Given the description of an element on the screen output the (x, y) to click on. 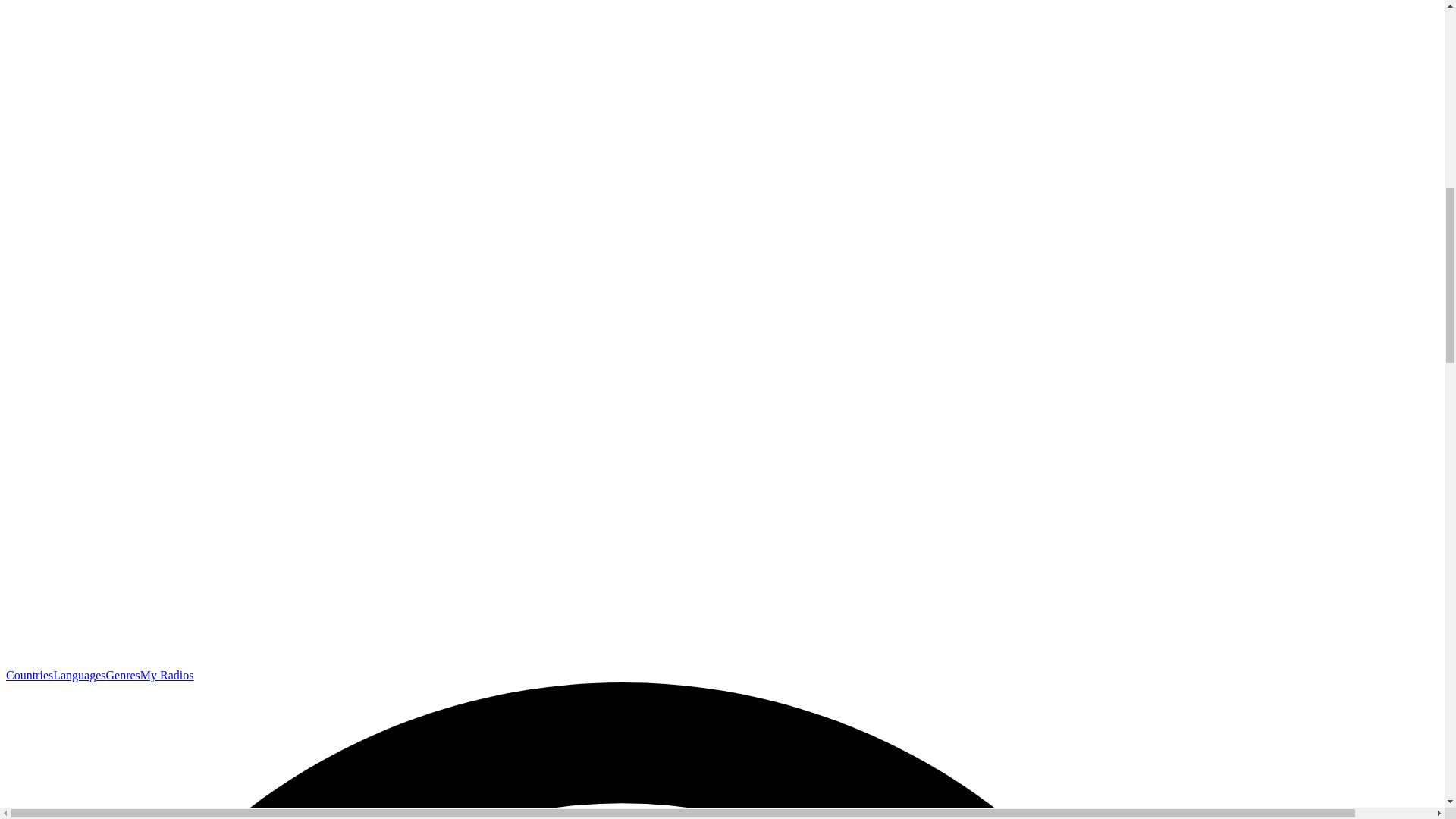
My Radios (166, 675)
Countries (28, 675)
Genres (122, 675)
Languages (78, 675)
